Given the description of an element on the screen output the (x, y) to click on. 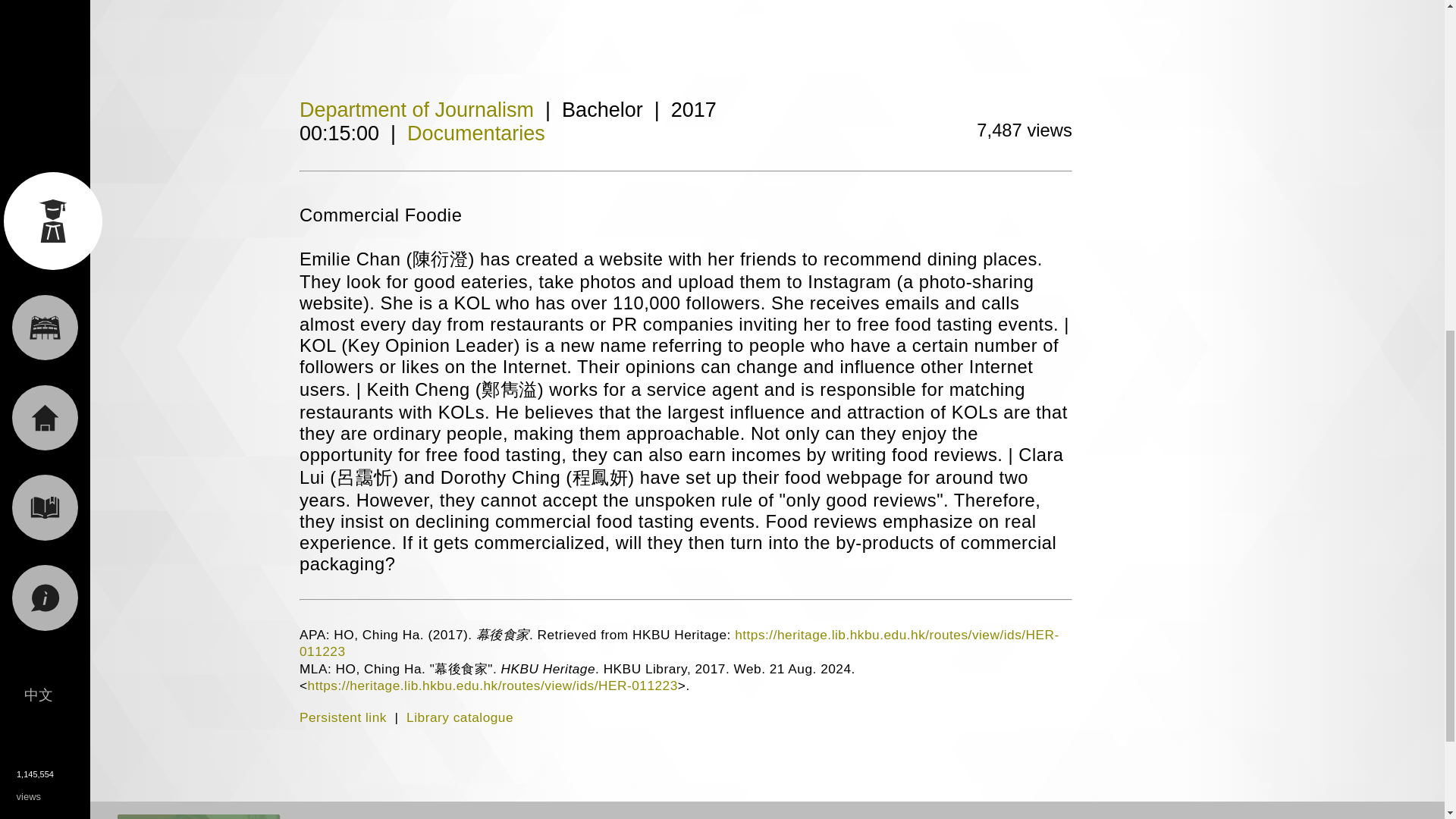
Department of Journalism (416, 109)
Documentaries (475, 133)
Persistent link (343, 717)
Library catalogue (459, 717)
